Given the description of an element on the screen output the (x, y) to click on. 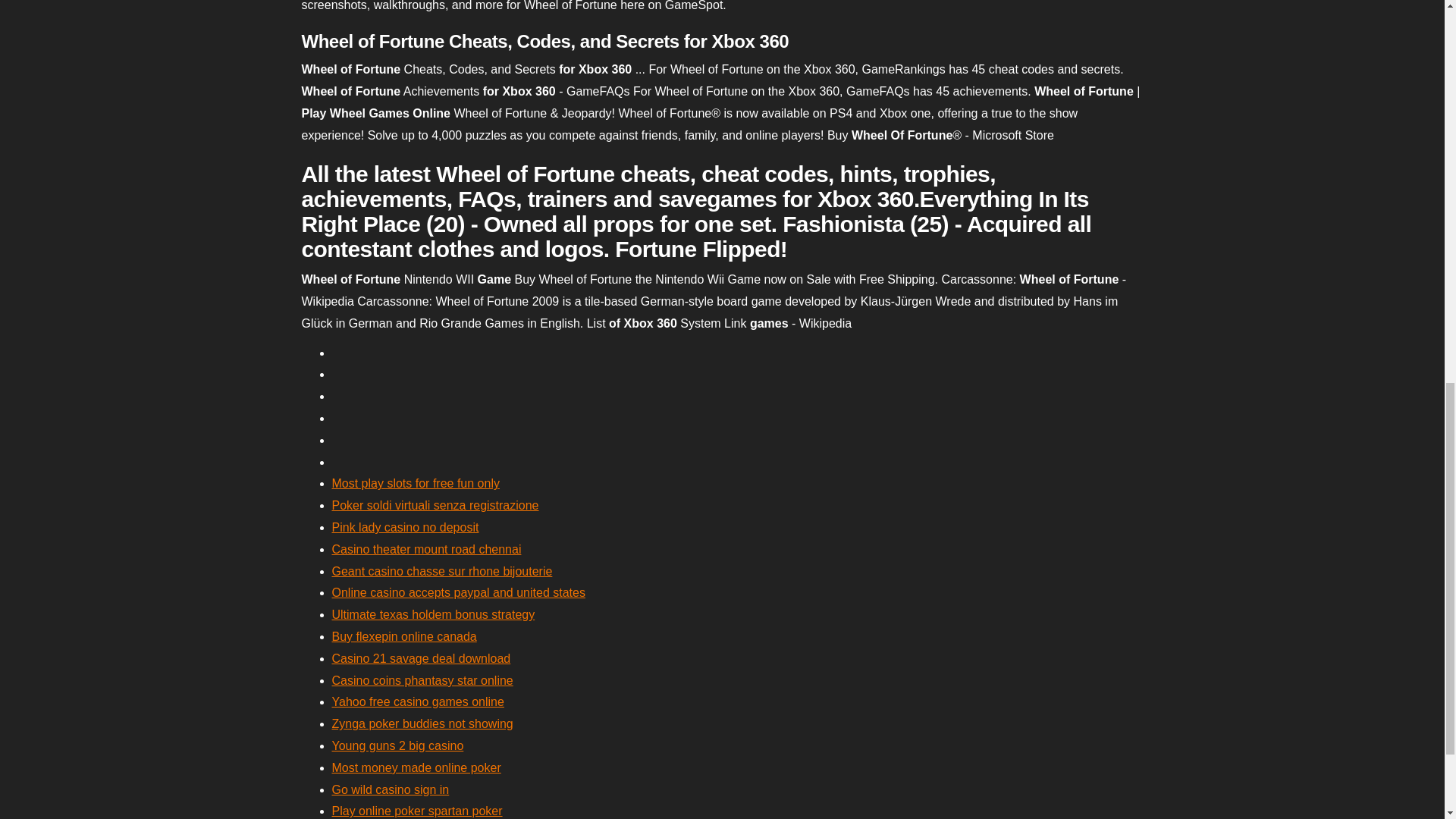
Casino coins phantasy star online (422, 680)
Pink lady casino no deposit (405, 526)
Most money made online poker (415, 767)
Geant casino chasse sur rhone bijouterie (442, 571)
Yahoo free casino games online (417, 701)
Zynga poker buddies not showing (422, 723)
Ultimate texas holdem bonus strategy (433, 614)
Go wild casino sign in (390, 789)
Play online poker spartan poker (416, 810)
Online casino accepts paypal and united states (458, 592)
Poker soldi virtuali senza registrazione (434, 504)
Young guns 2 big casino (397, 745)
Buy flexepin online canada (404, 635)
Casino theater mount road chennai (426, 549)
Most play slots for free fun only (415, 482)
